Given the description of an element on the screen output the (x, y) to click on. 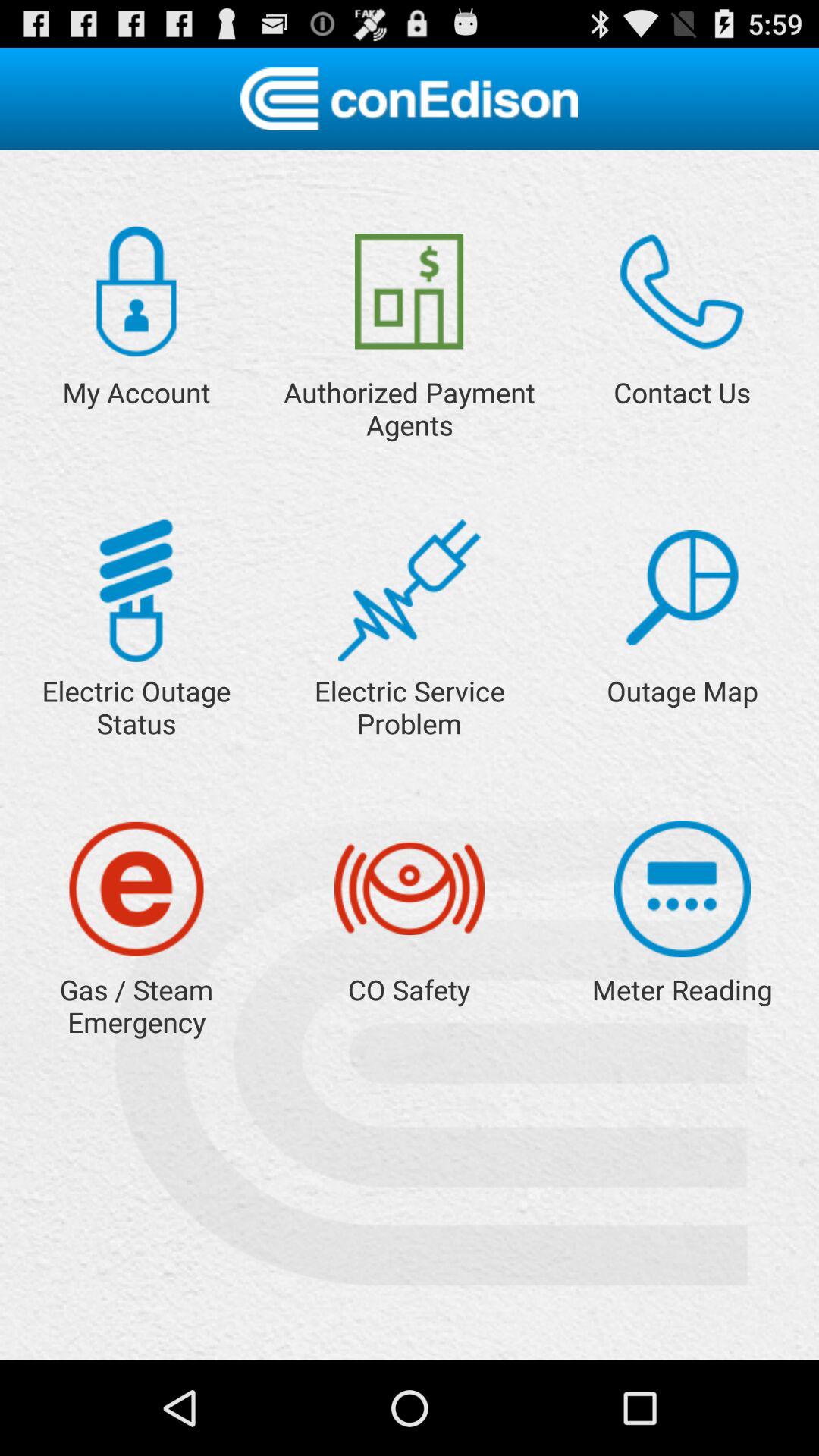
show meter reading (682, 888)
